Given the description of an element on the screen output the (x, y) to click on. 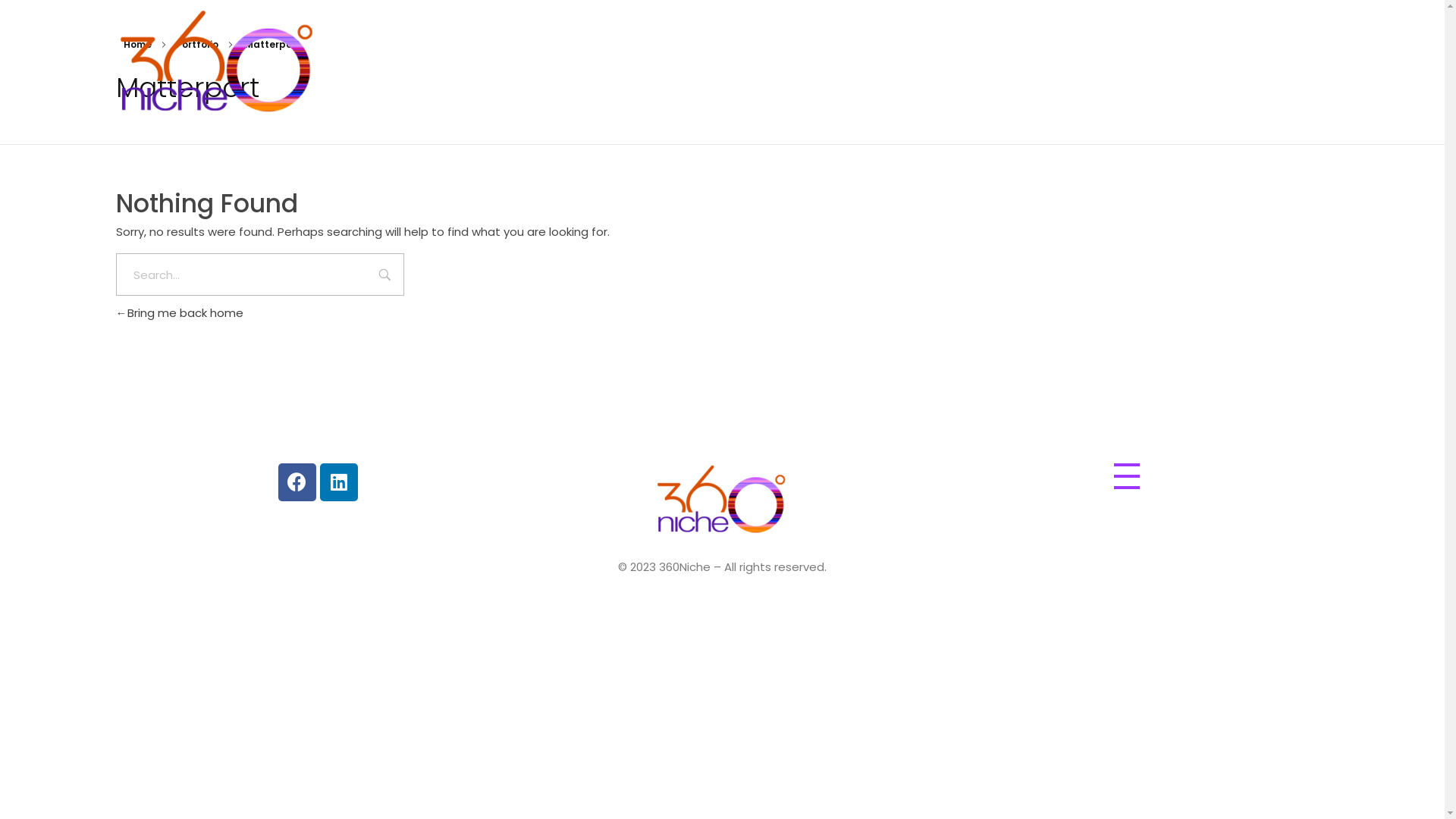
Portfolio Element type: text (196, 43)
HOME Element type: text (870, 61)
Search Element type: text (385, 275)
360Niche Element type: text (689, 545)
Bring me back home Element type: text (178, 312)
WHAT I OFFER Element type: text (1122, 61)
ABOUT ME Element type: text (941, 61)
360Niche Element type: text (151, 128)
PORTFOLIO Element type: text (1026, 61)
360Niche Element type: hover (722, 500)
CONTACT Element type: text (1286, 61)
Home Element type: text (136, 43)
360Niche Element type: hover (217, 64)
PRICING Element type: text (1208, 61)
